Given the description of an element on the screen output the (x, y) to click on. 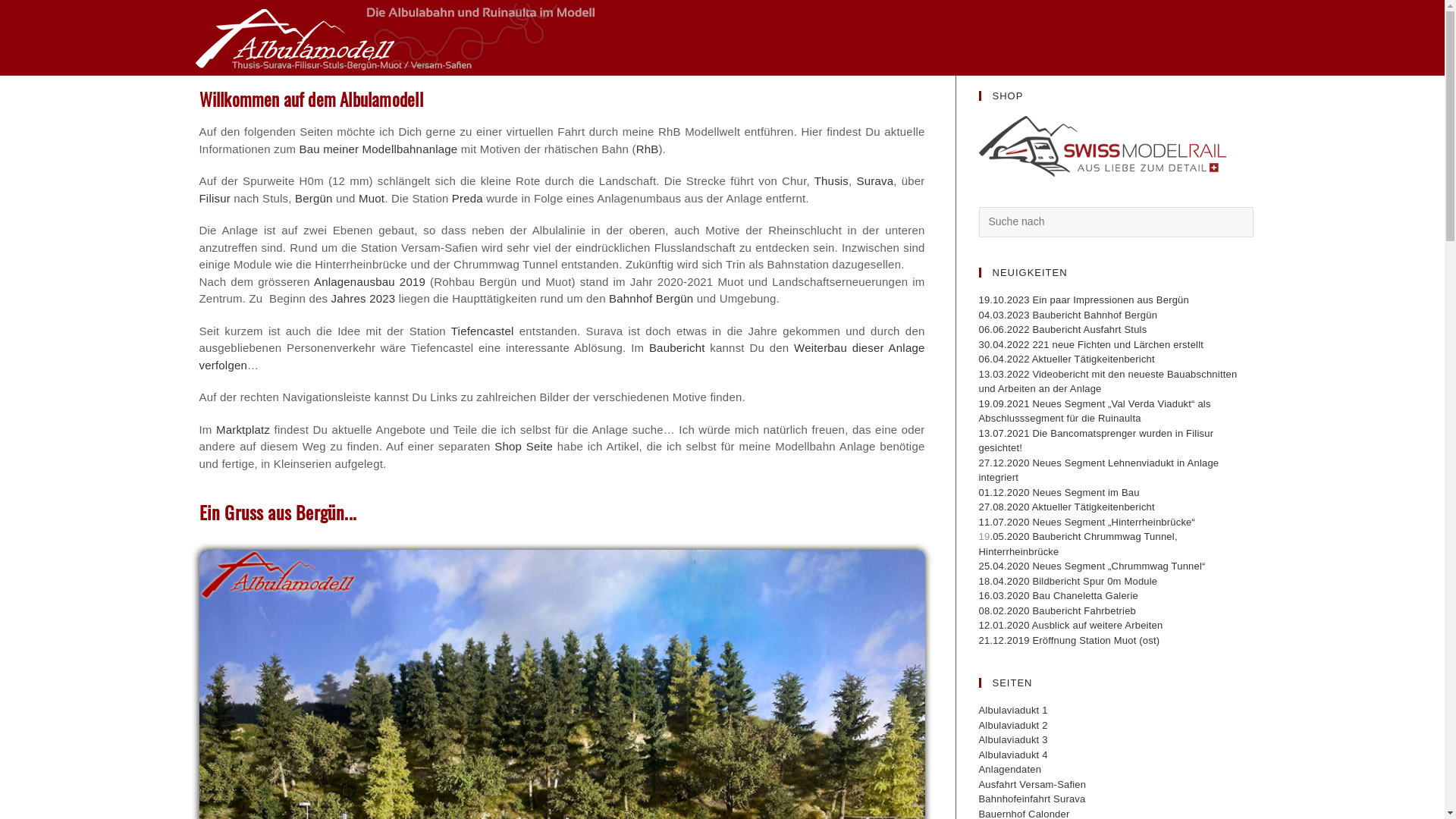
Thusis Element type: text (831, 180)
Marktplatz Element type: text (242, 429)
06.06.2022 Baubericht Ausfahrt Stuls Element type: text (1062, 329)
Filisur Element type: text (213, 197)
30.04.2022 Element type: text (1005, 343)
Bau meiner Modellbahnanlage Element type: text (377, 148)
Anlagendaten Element type: text (1009, 769)
Baubericht Element type: text (677, 347)
01.12.2020 Neues Segment im Bau Element type: text (1058, 492)
18.04.2020 Bildbericht Spur 0m Module Element type: text (1067, 580)
Albulaviadukt 4 Element type: text (1012, 754)
Weiterbau dieser Anlage verfolgen Element type: text (561, 356)
12.01.2020 Ausblick auf weitere Arbeiten Element type: text (1070, 624)
Anlagenausbau 2019 Element type: text (369, 280)
Jahres 2023 Element type: text (363, 297)
13.07.2021 Die Bancomatsprenger wurden in Filisur gesichtet! Element type: text (1095, 440)
RhB Element type: text (647, 148)
08.02.2020 Baubericht Fahrbetrieb Element type: text (1056, 610)
Muot Element type: text (371, 197)
27.12.2020 Neues Segment Lehnenviadukt in Anlage integriert Element type: text (1098, 469)
Ausfahrt Versam-Safien Element type: text (1031, 783)
Preda Element type: text (467, 197)
Surava Element type: text (875, 180)
16.03.2020 Bau Chaneletta Galerie Element type: text (1057, 595)
Tiefencastel Element type: text (482, 330)
logo Element type: hover (1101, 146)
Albulaviadukt 1 Element type: text (1012, 709)
Shop Seite Element type: text (525, 445)
Albulaviadukt 3 Element type: text (1012, 739)
Bahnhofeinfahrt Surava Element type: text (1031, 798)
Albulaviadukt 2 Element type: text (1012, 724)
